Given the description of an element on the screen output the (x, y) to click on. 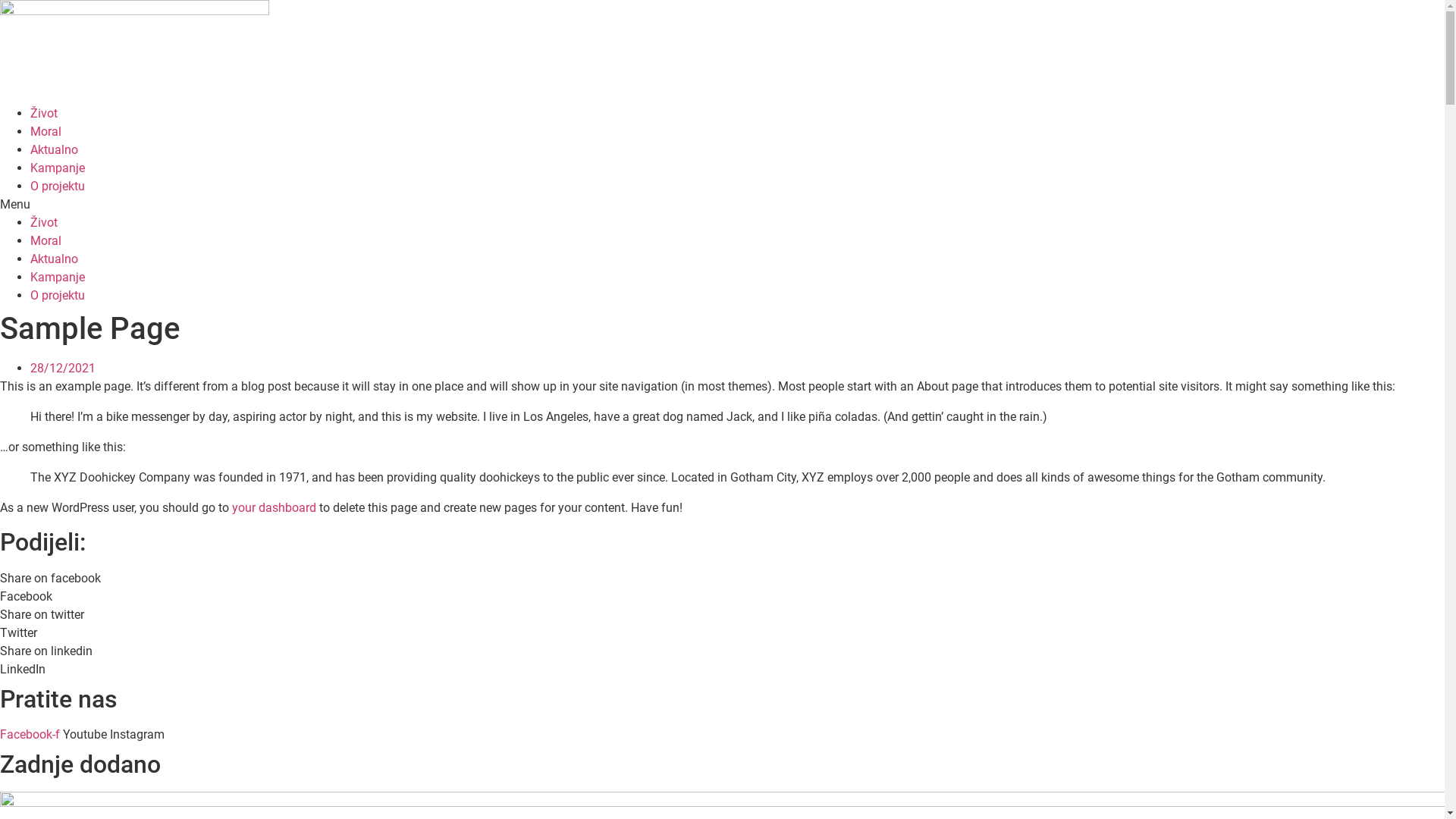
your dashboard Element type: text (274, 507)
Youtube Element type: text (85, 734)
O projektu Element type: text (57, 295)
Moral Element type: text (45, 131)
Moral Element type: text (45, 240)
28/12/2021 Element type: text (62, 367)
Facebook-f Element type: text (31, 734)
Kampanje Element type: text (57, 276)
Instagram Element type: text (136, 734)
Kampanje Element type: text (57, 167)
Aktualno Element type: text (54, 258)
Aktualno Element type: text (54, 149)
O projektu Element type: text (57, 185)
